Given the description of an element on the screen output the (x, y) to click on. 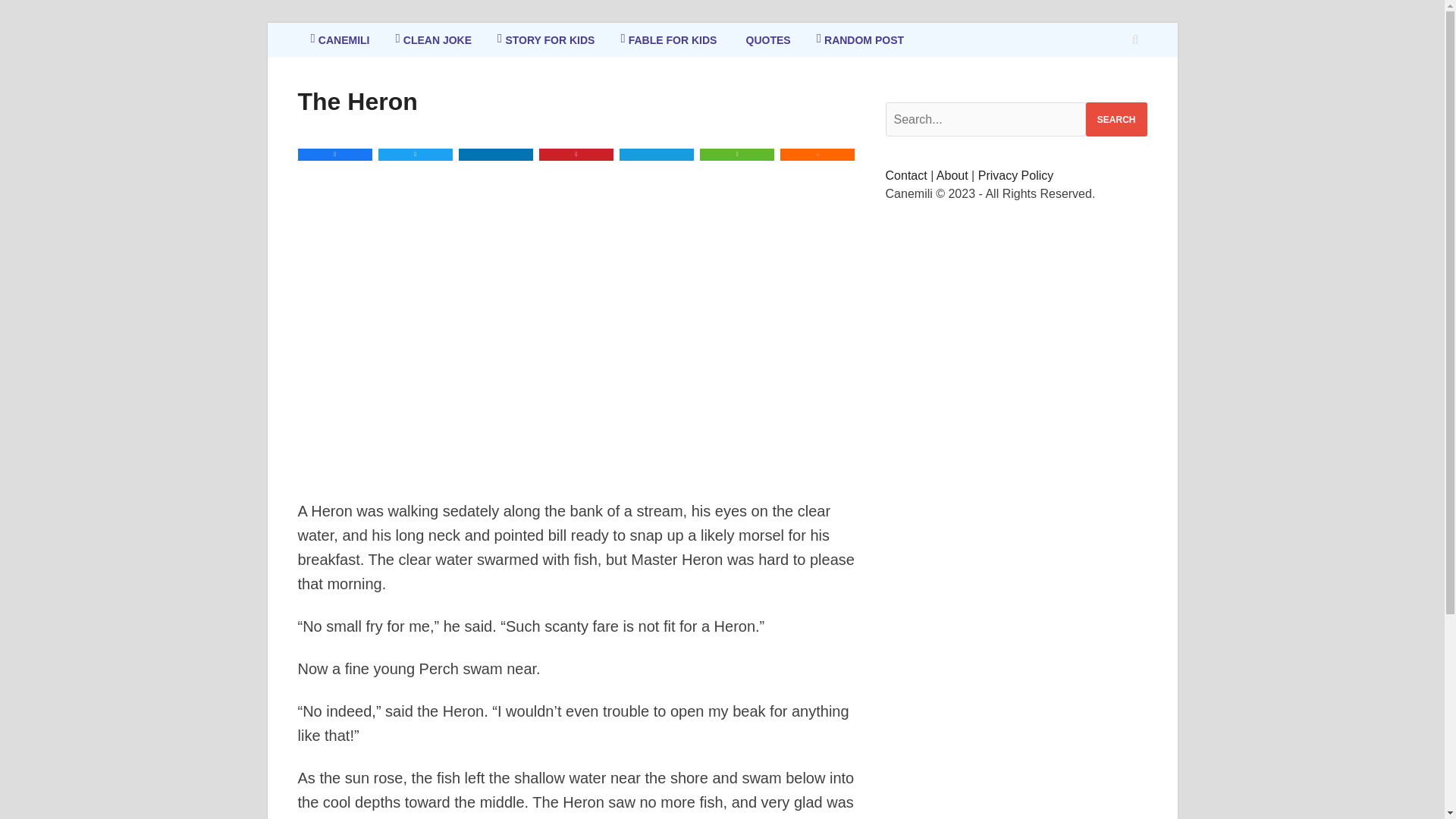
Tweet this ! (415, 154)
Privacy Policy (1016, 174)
CANEMILI (339, 39)
RANDOM POST (860, 39)
Submit this to Pinterest (575, 154)
Share this on Facebook (334, 154)
Telegram (657, 154)
About (952, 174)
WhatsApp (737, 154)
QUOTES (766, 39)
FABLE FOR KIDS (668, 39)
STORY FOR KIDS (545, 39)
CLEAN JOKE (432, 39)
Contact (906, 174)
